Given the description of an element on the screen output the (x, y) to click on. 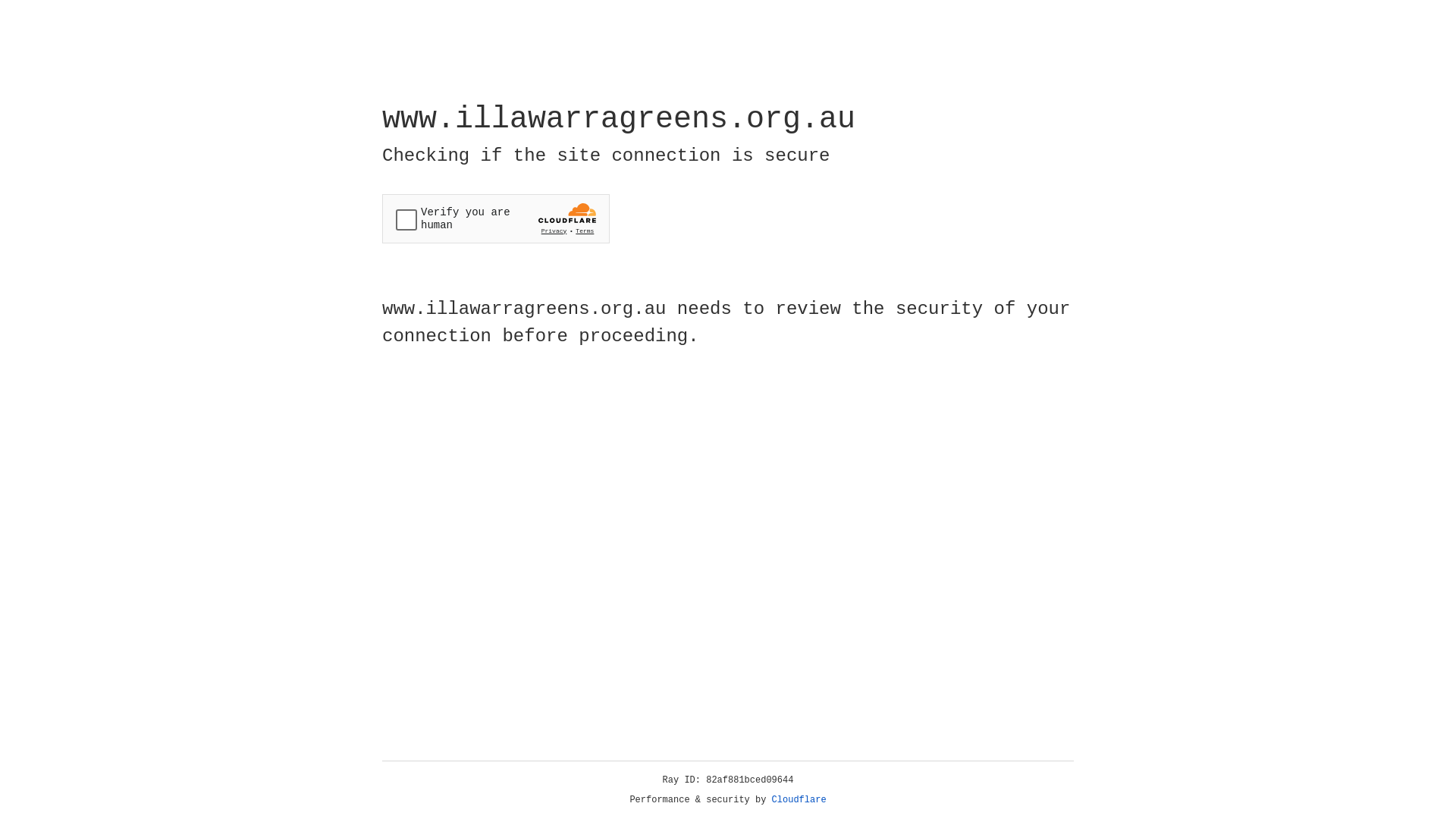
Widget containing a Cloudflare security challenge Element type: hover (495, 218)
Cloudflare Element type: text (798, 799)
